Given the description of an element on the screen output the (x, y) to click on. 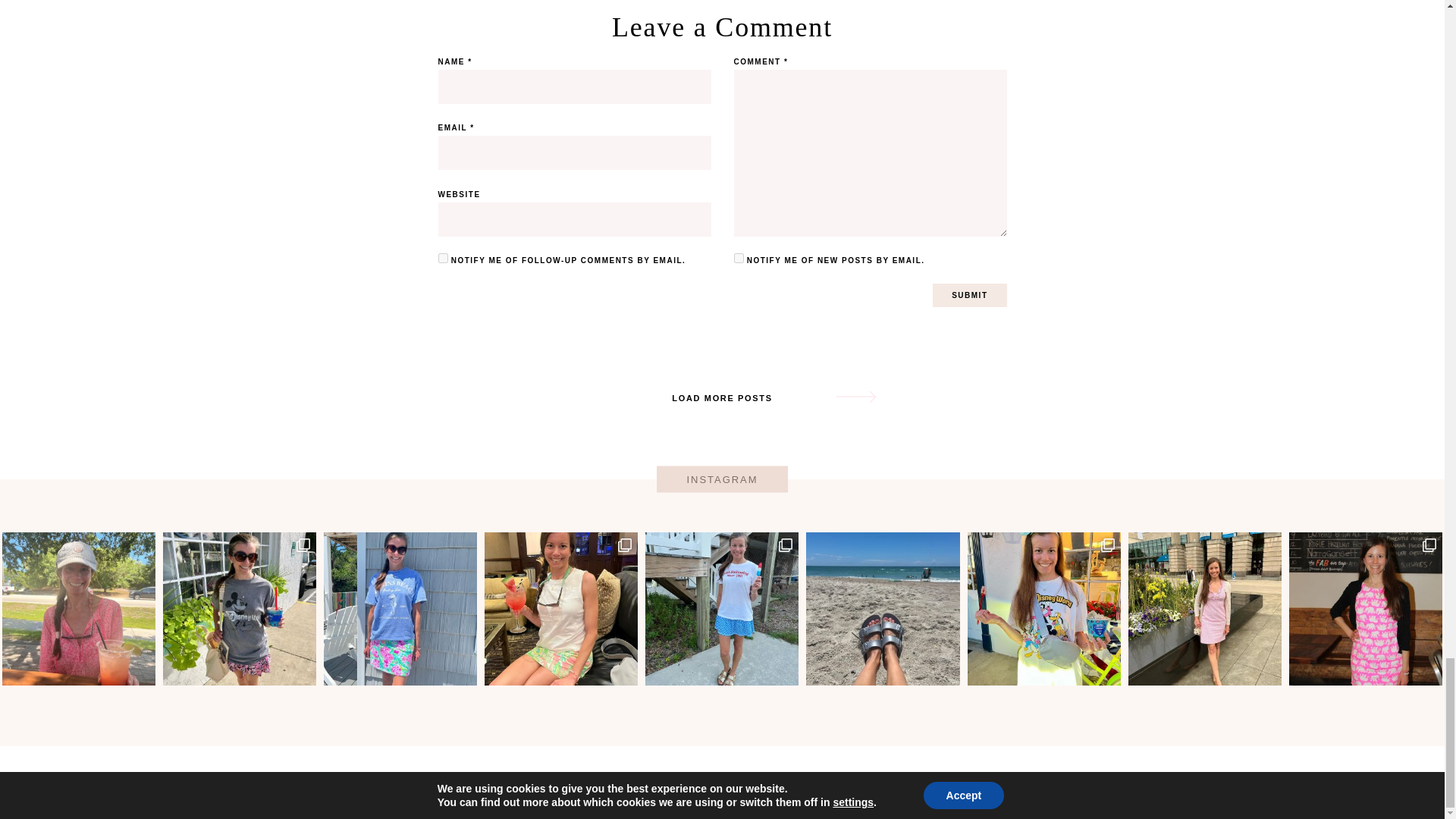
subscribe (443, 257)
subscribe (738, 257)
Submit (969, 295)
